Given the description of an element on the screen output the (x, y) to click on. 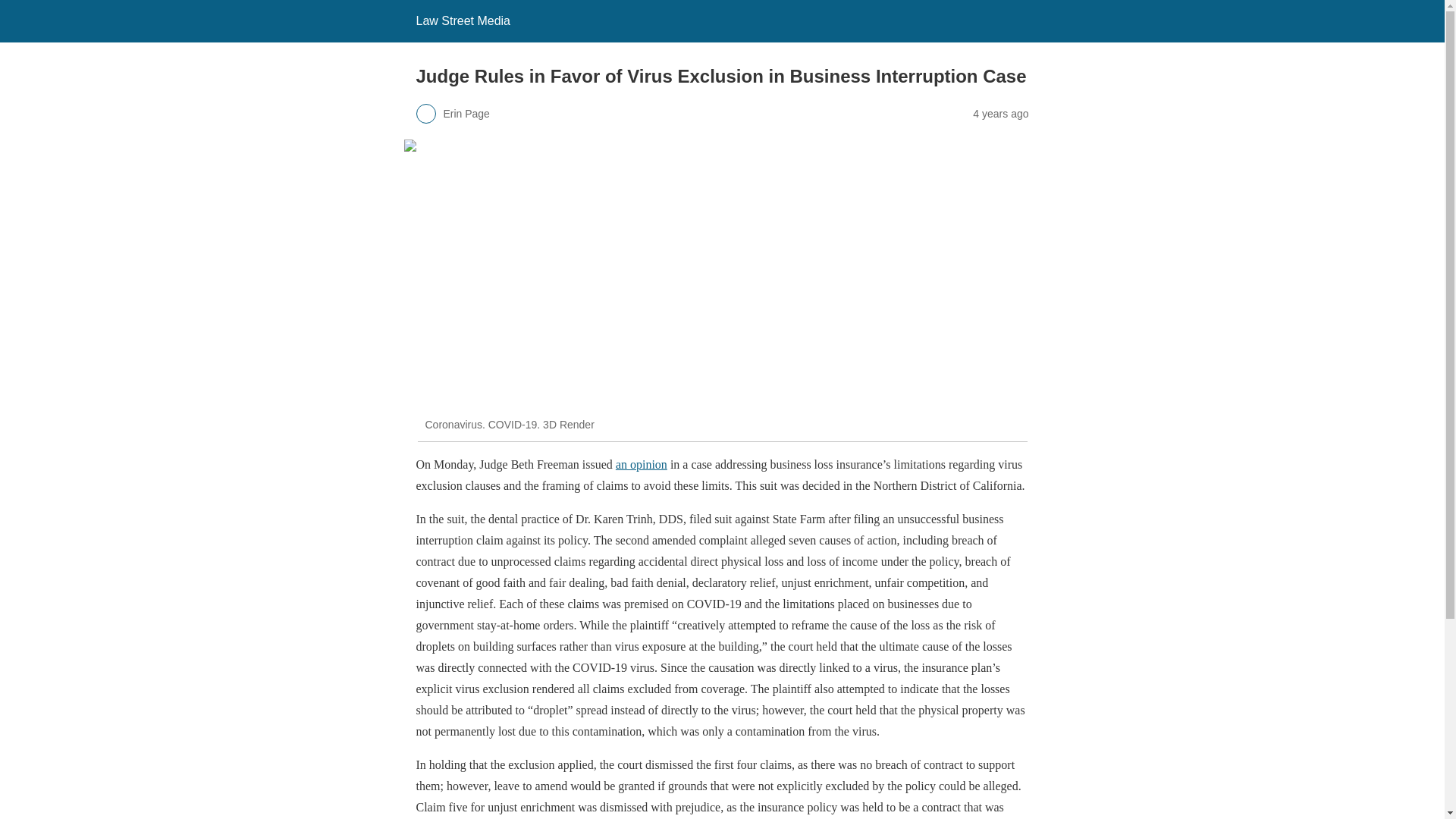
an opinion (640, 463)
Law Street Media (462, 20)
